Given the description of an element on the screen output the (x, y) to click on. 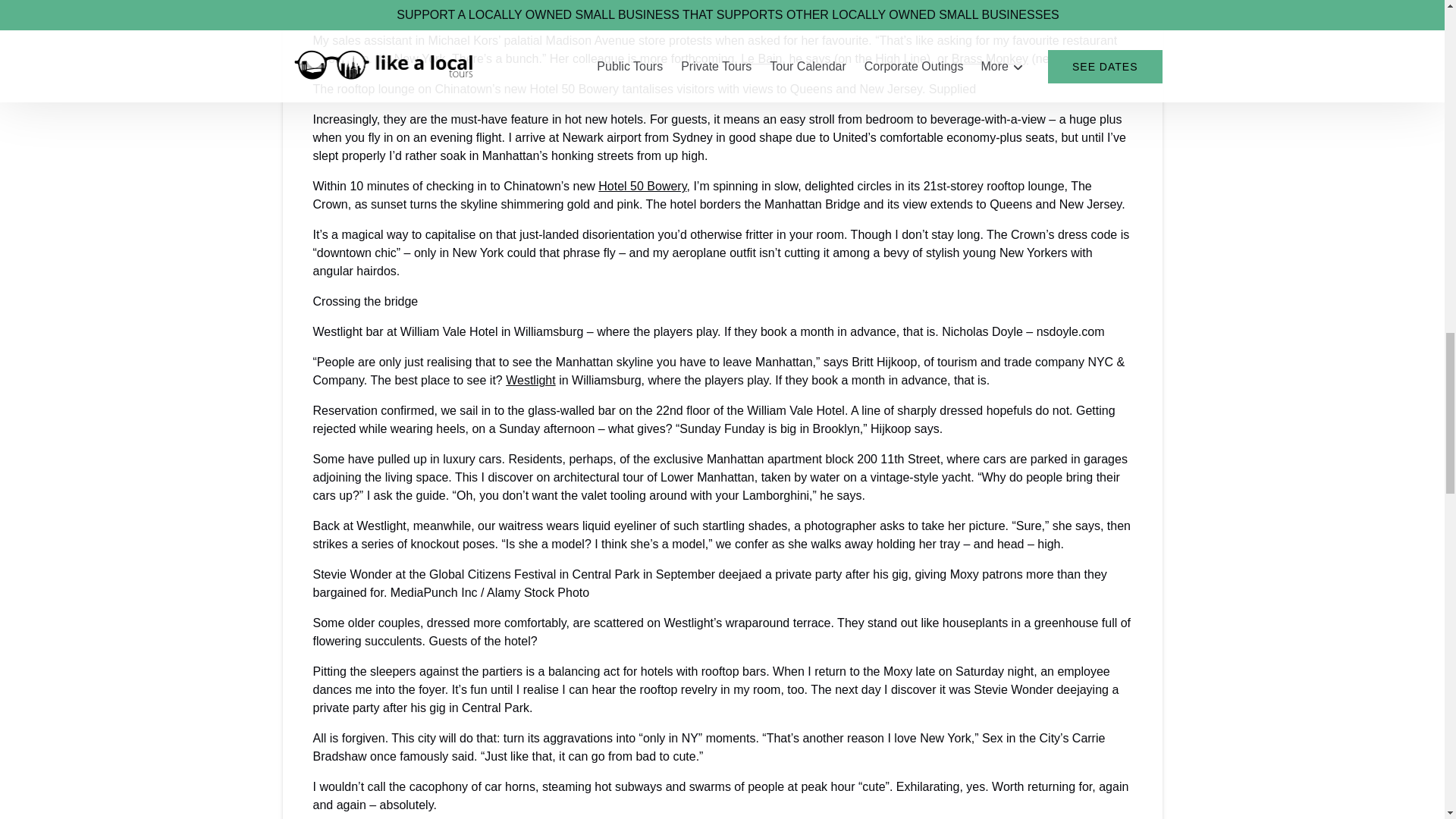
Hotel 50 Bowery (641, 185)
Brass Monkey (989, 58)
Le Bain (761, 58)
Westlight (530, 379)
